Given the description of an element on the screen output the (x, y) to click on. 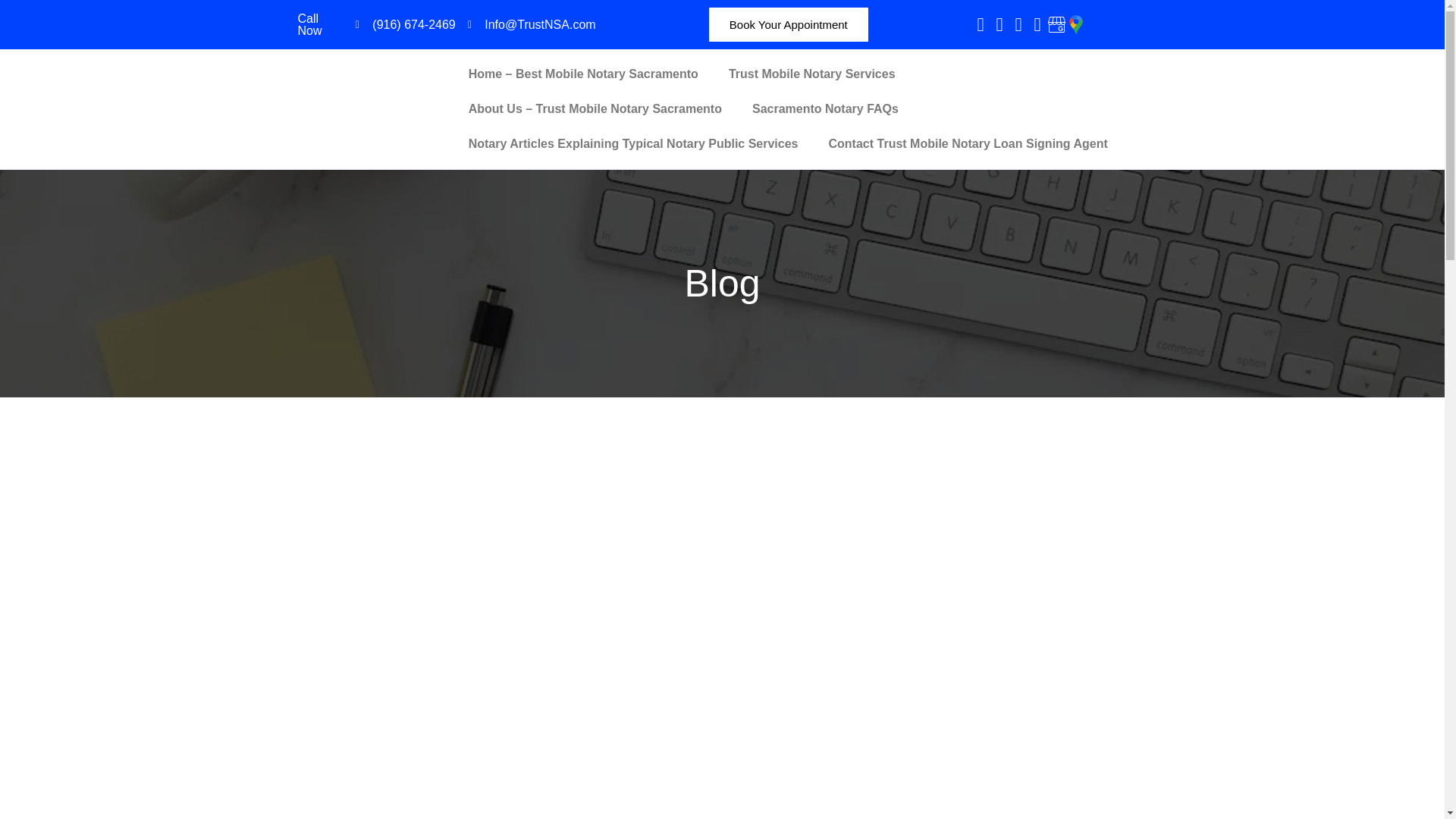
Trust Mobile Notary Services (812, 73)
Contact Trust Mobile Notary Loan Signing Agent (967, 143)
Book Your Appointment (788, 24)
Sacramento Notary FAQs (825, 108)
Notary Articles Explaining Typical Notary Public Services (632, 143)
